Given the description of an element on the screen output the (x, y) to click on. 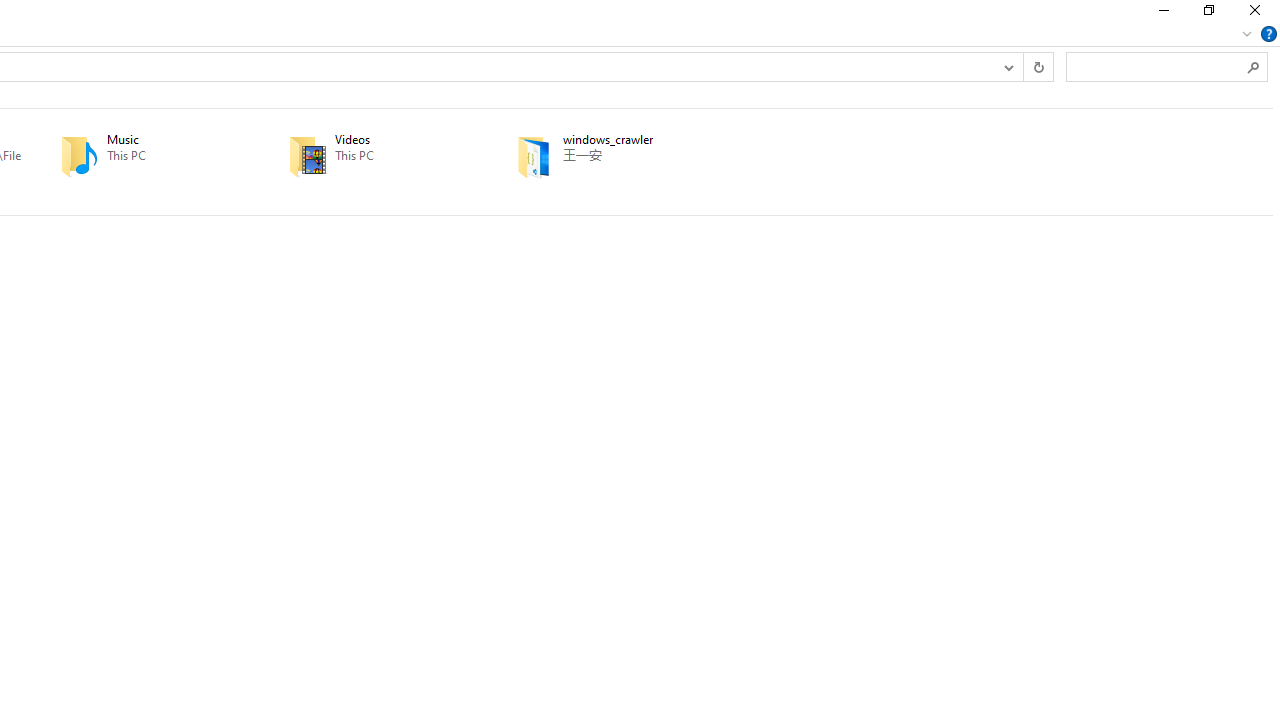
Videos (374, 156)
